Given the description of an element on the screen output the (x, y) to click on. 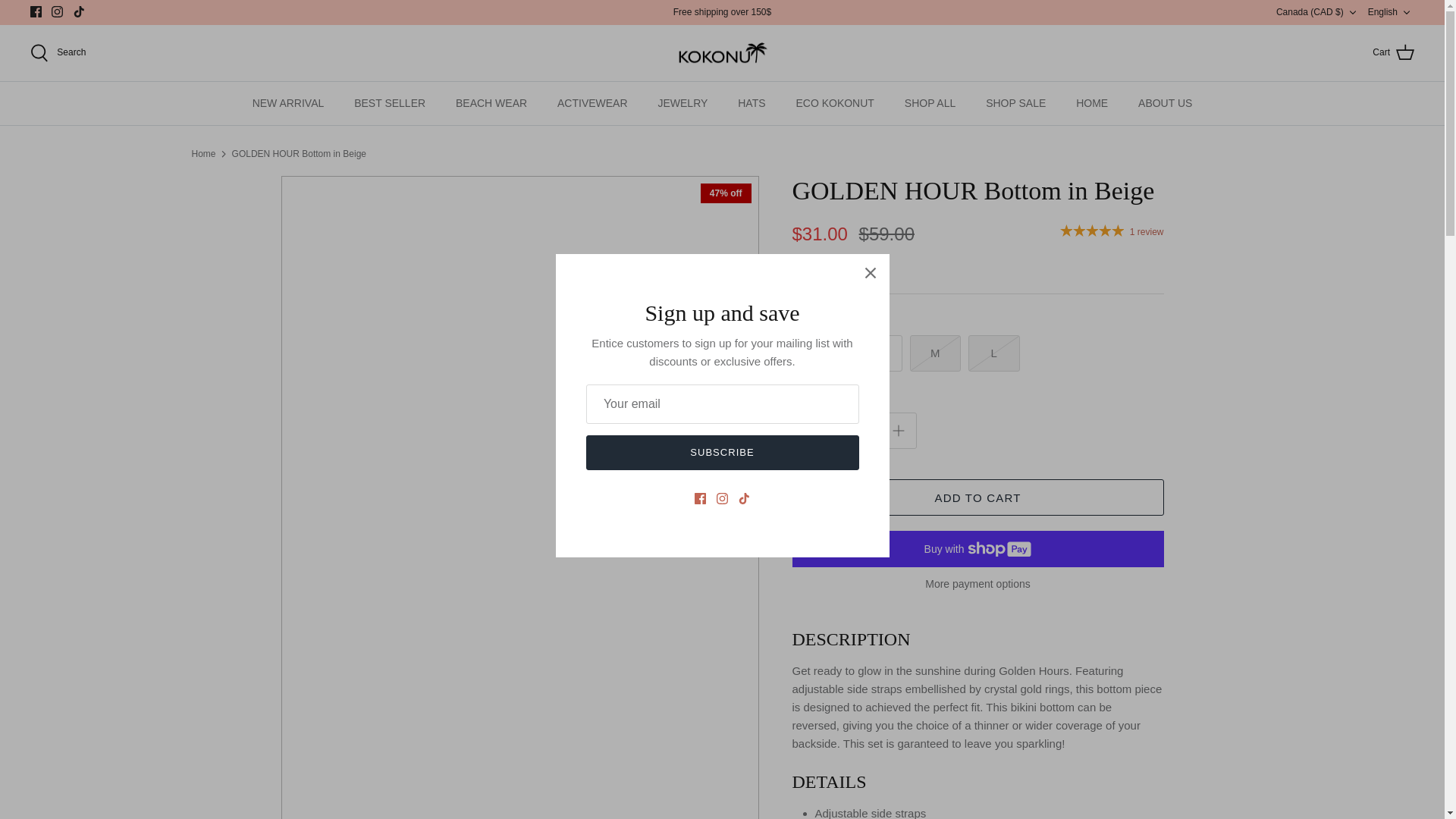
Instagram (56, 11)
Facebook (36, 11)
Facebook (36, 11)
Instagram (56, 11)
Down (1406, 12)
Minus (809, 430)
1 (853, 430)
RIGHT (741, 521)
kokonutofficial (722, 53)
Down (1353, 12)
